Given the description of an element on the screen output the (x, y) to click on. 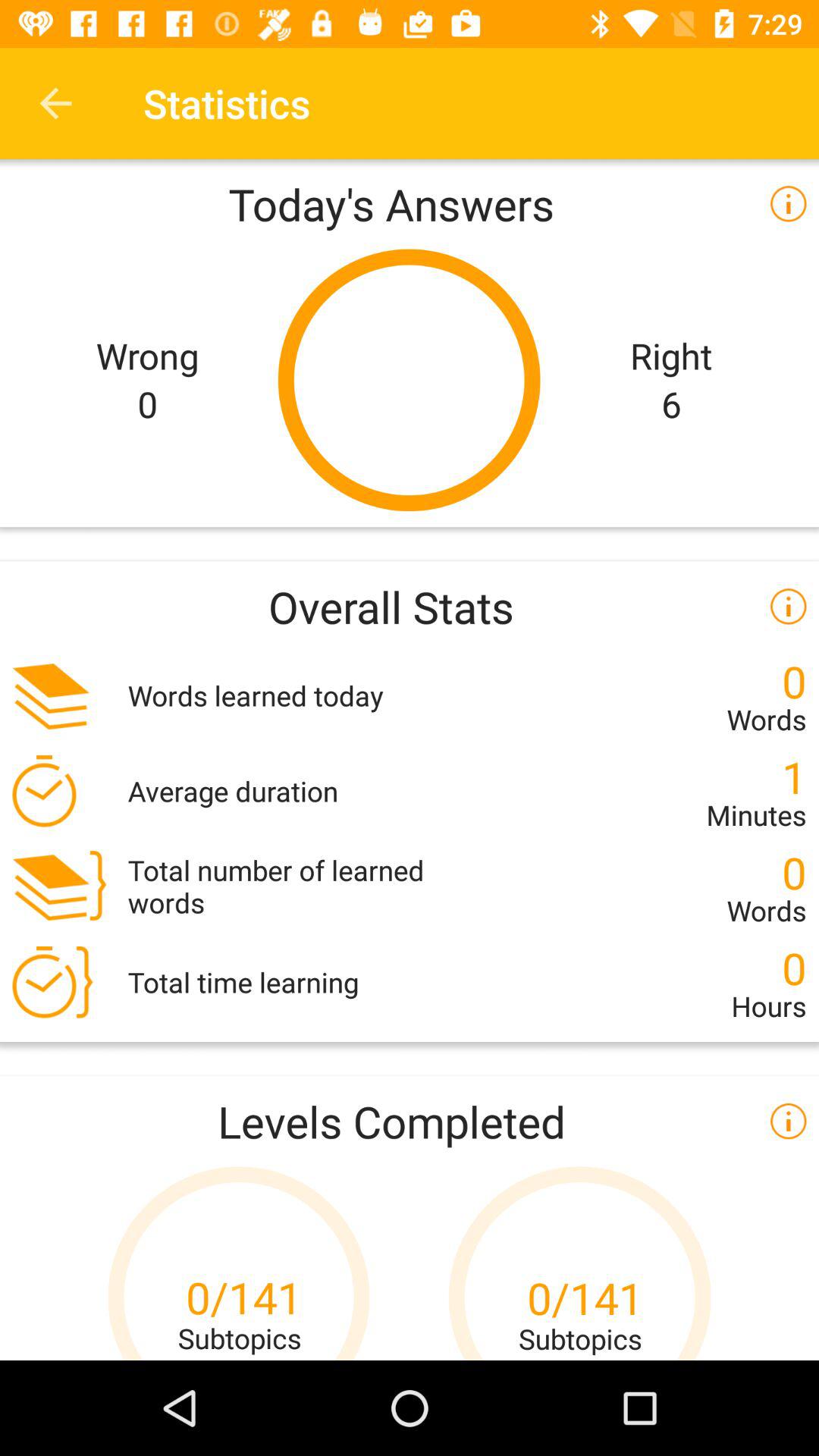
open the icon to the left of statistics (55, 103)
